Given the description of an element on the screen output the (x, y) to click on. 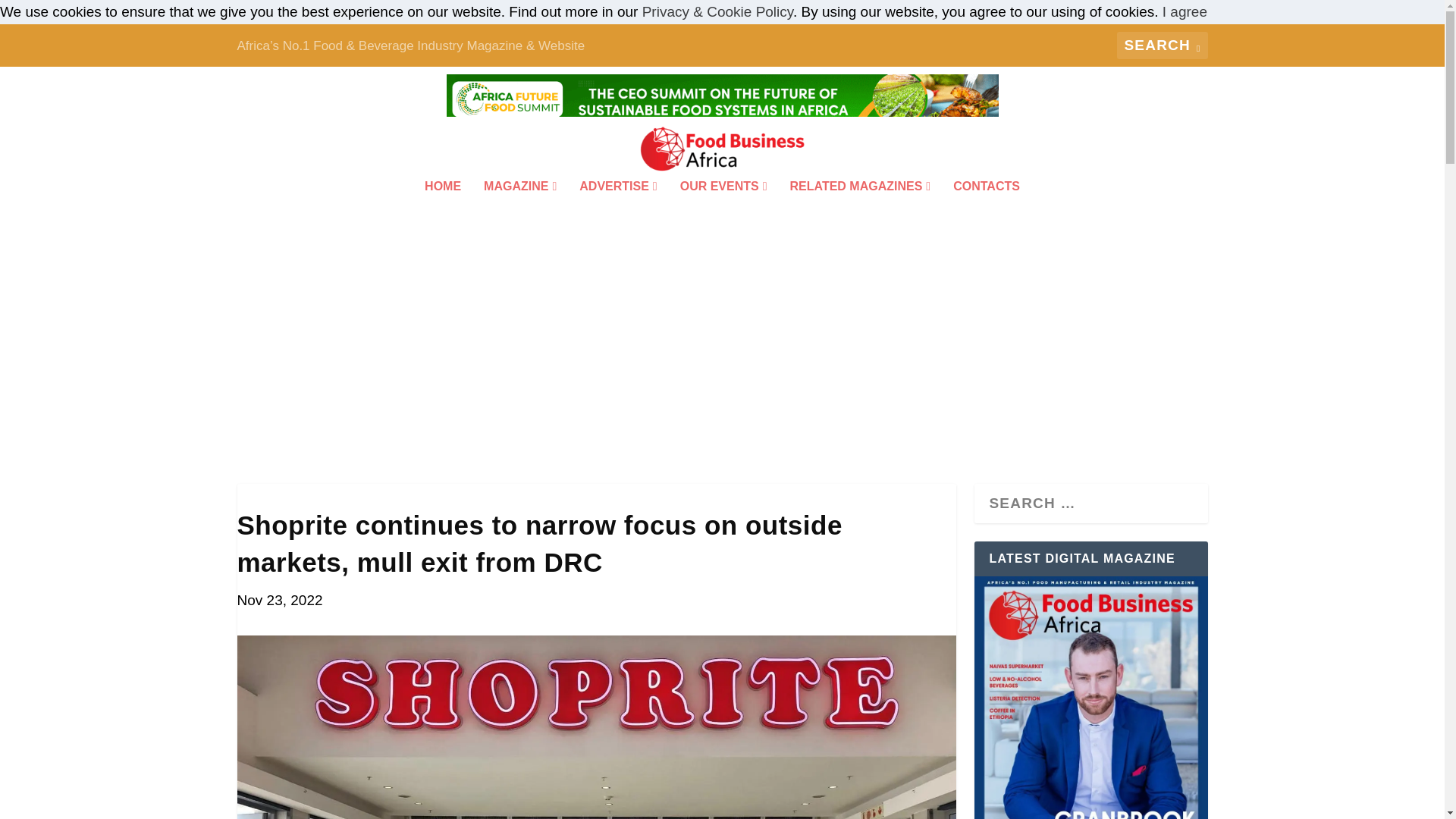
Search for: (1161, 44)
RELATED MAGAZINES (860, 206)
CONTACTS (986, 206)
MAGAZINE (519, 206)
I agree (1184, 11)
OUR EVENTS (723, 206)
ADVERTISE (617, 206)
LATEST DIGITAL MAGAZINE (1090, 697)
